Given the description of an element on the screen output the (x, y) to click on. 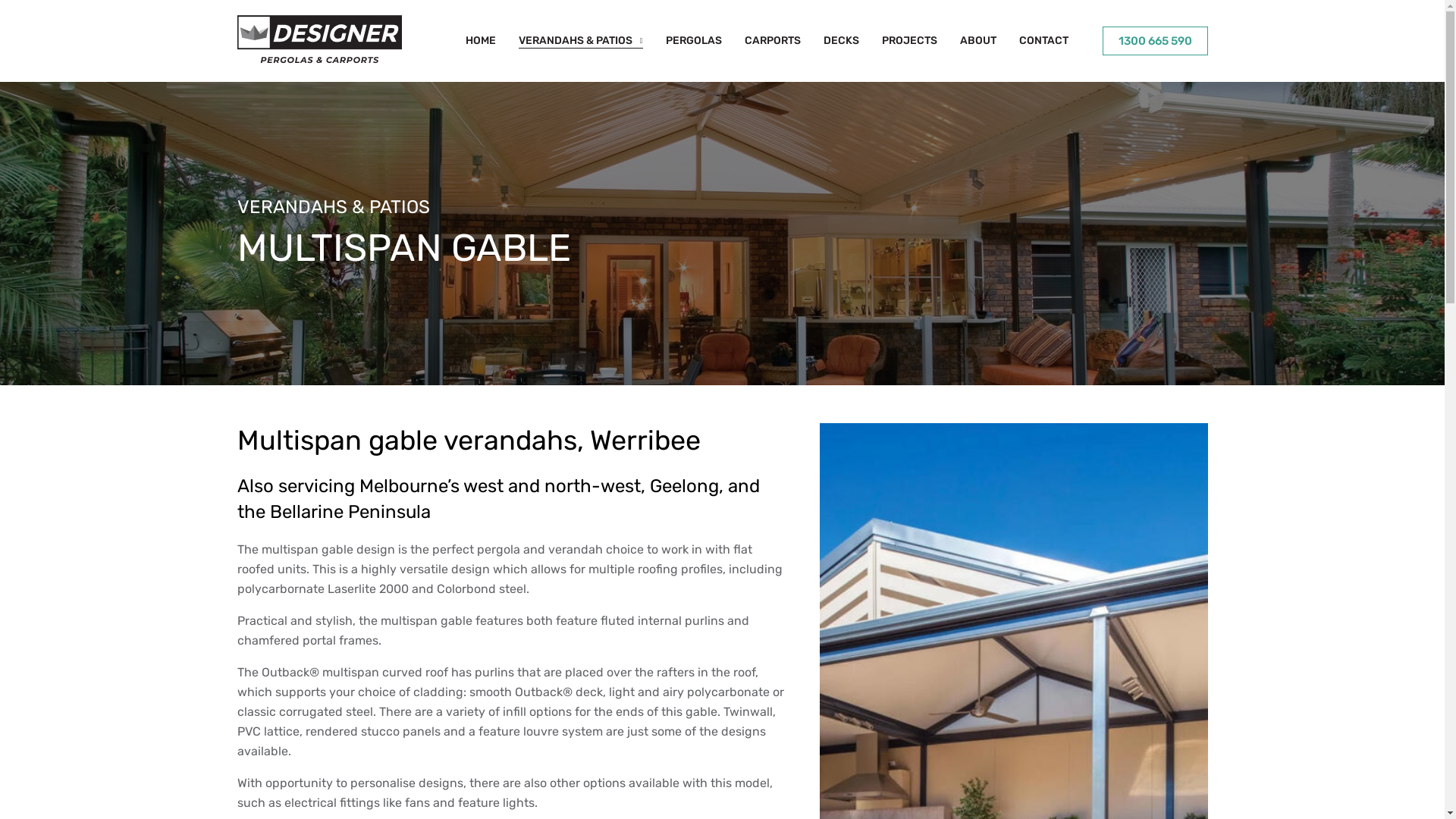
CARPORTS Element type: text (772, 40)
VERANDAHS & PATIOS Element type: text (580, 40)
1300 665 590 Element type: text (1155, 40)
PROJECTS Element type: text (908, 40)
HOME Element type: text (480, 40)
DECKS Element type: text (841, 40)
ABOUT Element type: text (978, 40)
PERGOLAS Element type: text (693, 40)
CONTACT Element type: text (1043, 40)
